Given the description of an element on the screen output the (x, y) to click on. 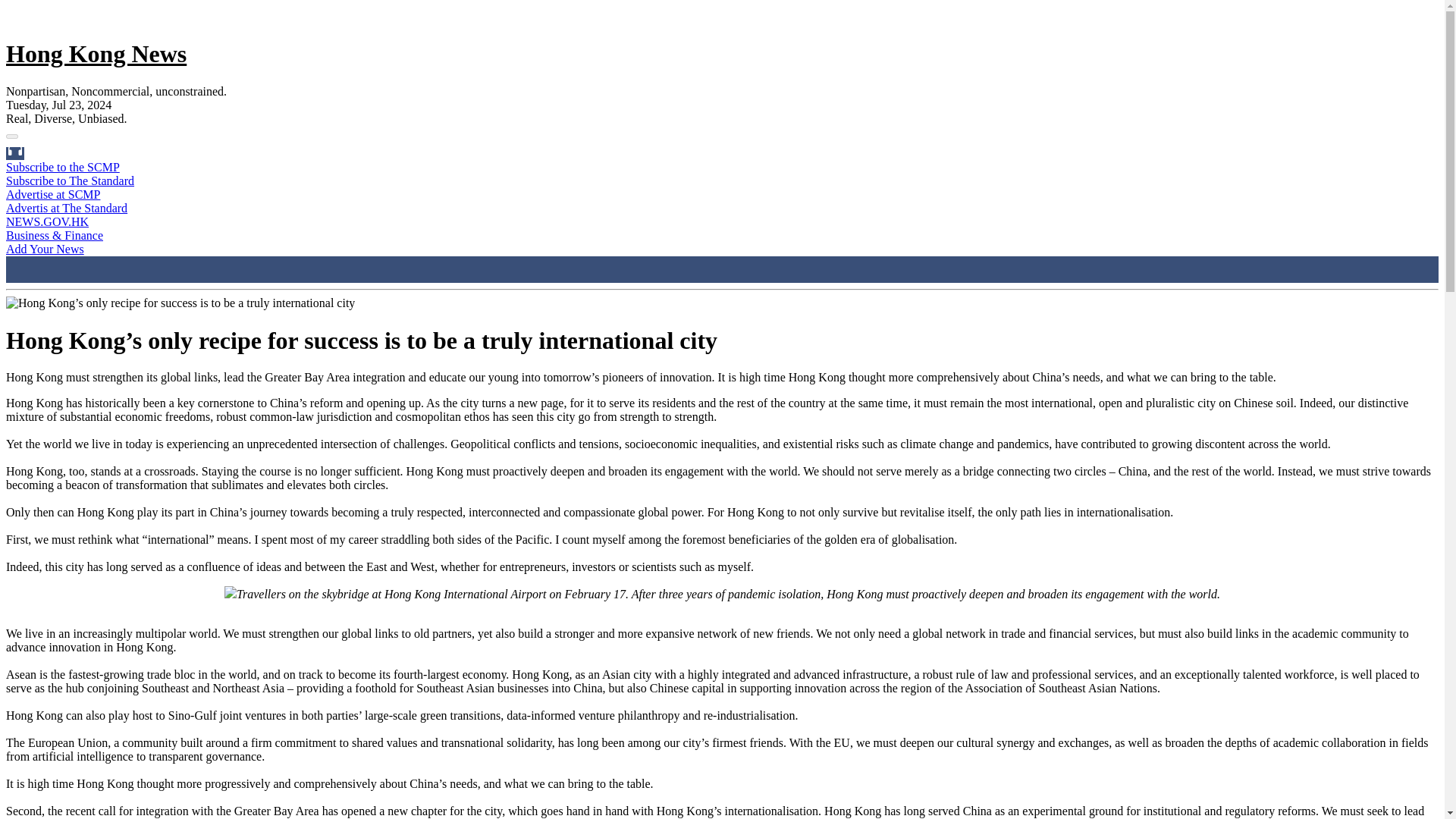
Hong Kong News (95, 53)
Subscribe to The Standard (69, 180)
Advertise at SCMP (52, 194)
Add Your News (44, 248)
Advertis at The Standard (66, 207)
Subscribe to the SCMP (62, 166)
NEWS.GOV.HK (46, 221)
